Given the description of an element on the screen output the (x, y) to click on. 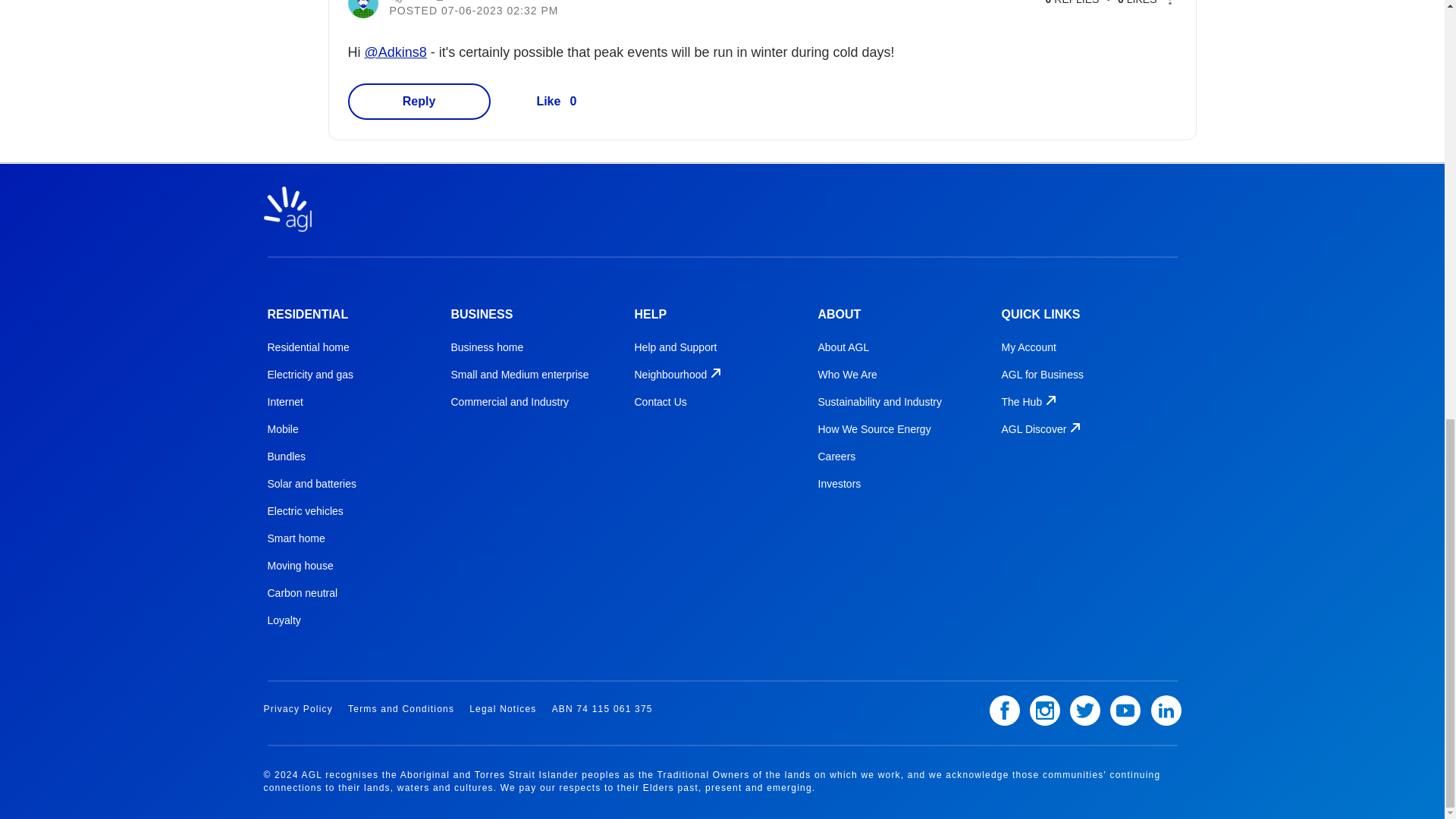
Click here to give likes to this post. (547, 100)
Posted on (576, 10)
AGL Community Manager (395, 1)
Show option menu (1169, 5)
